Given the description of an element on the screen output the (x, y) to click on. 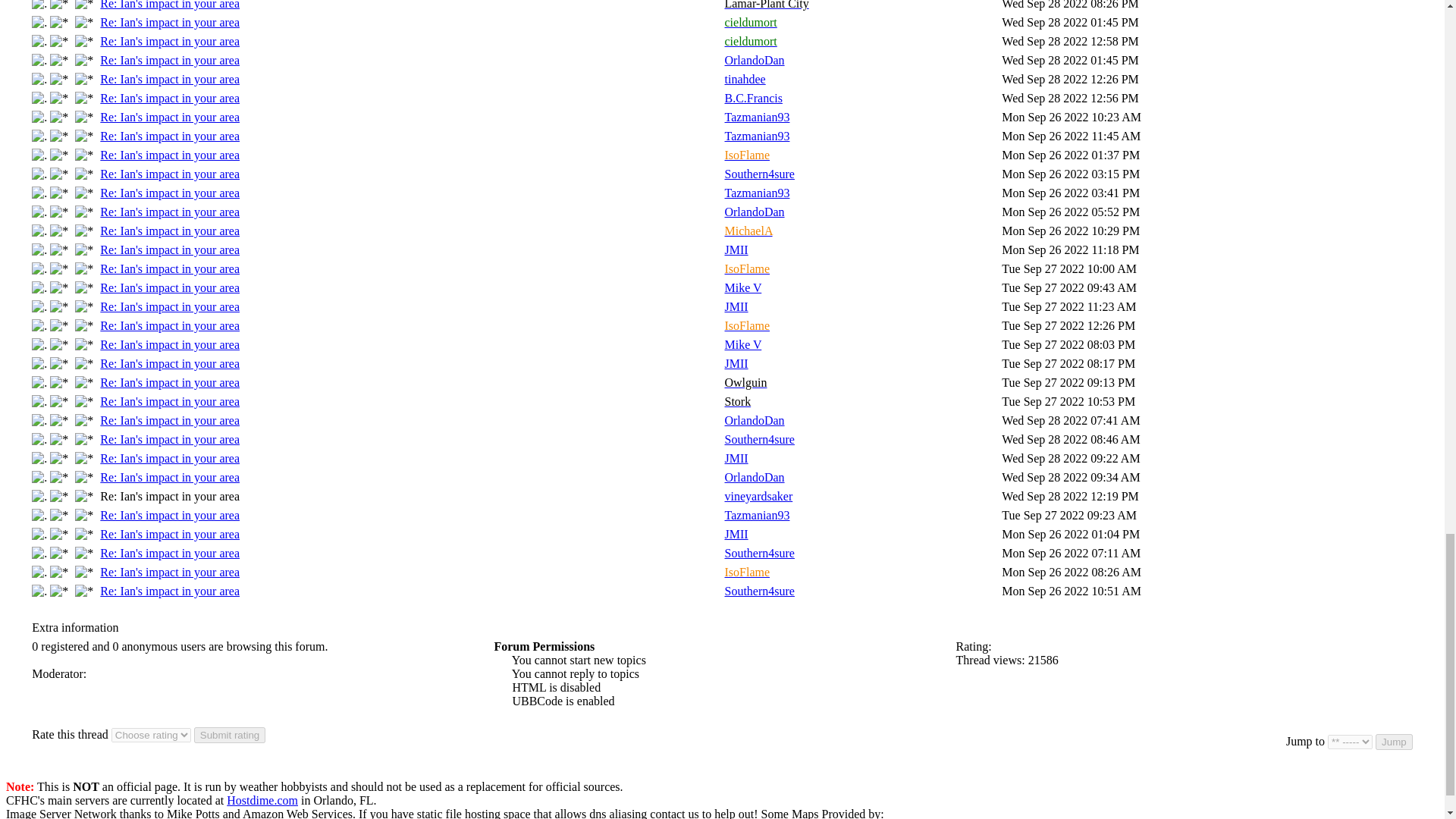
Submit rating (229, 734)
Jump (1393, 741)
